Given the description of an element on the screen output the (x, y) to click on. 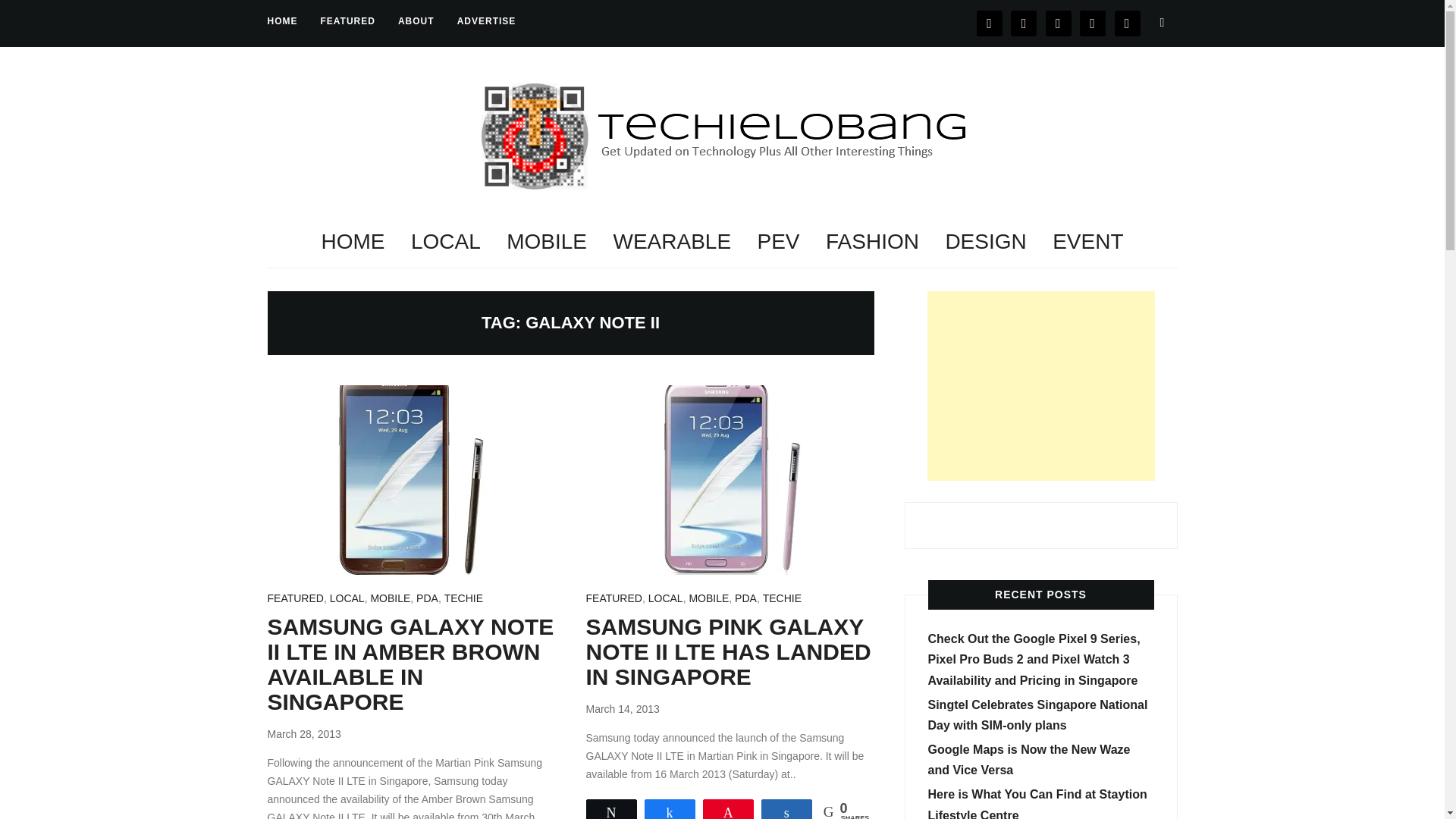
HOME (281, 21)
MOBILE (389, 598)
LOCAL (445, 241)
PDA (427, 598)
RSS (1127, 22)
WEARABLE (671, 241)
ADVERTISE (486, 21)
MOBILE (546, 241)
HOME (352, 241)
LOCAL (347, 598)
